Given the description of an element on the screen output the (x, y) to click on. 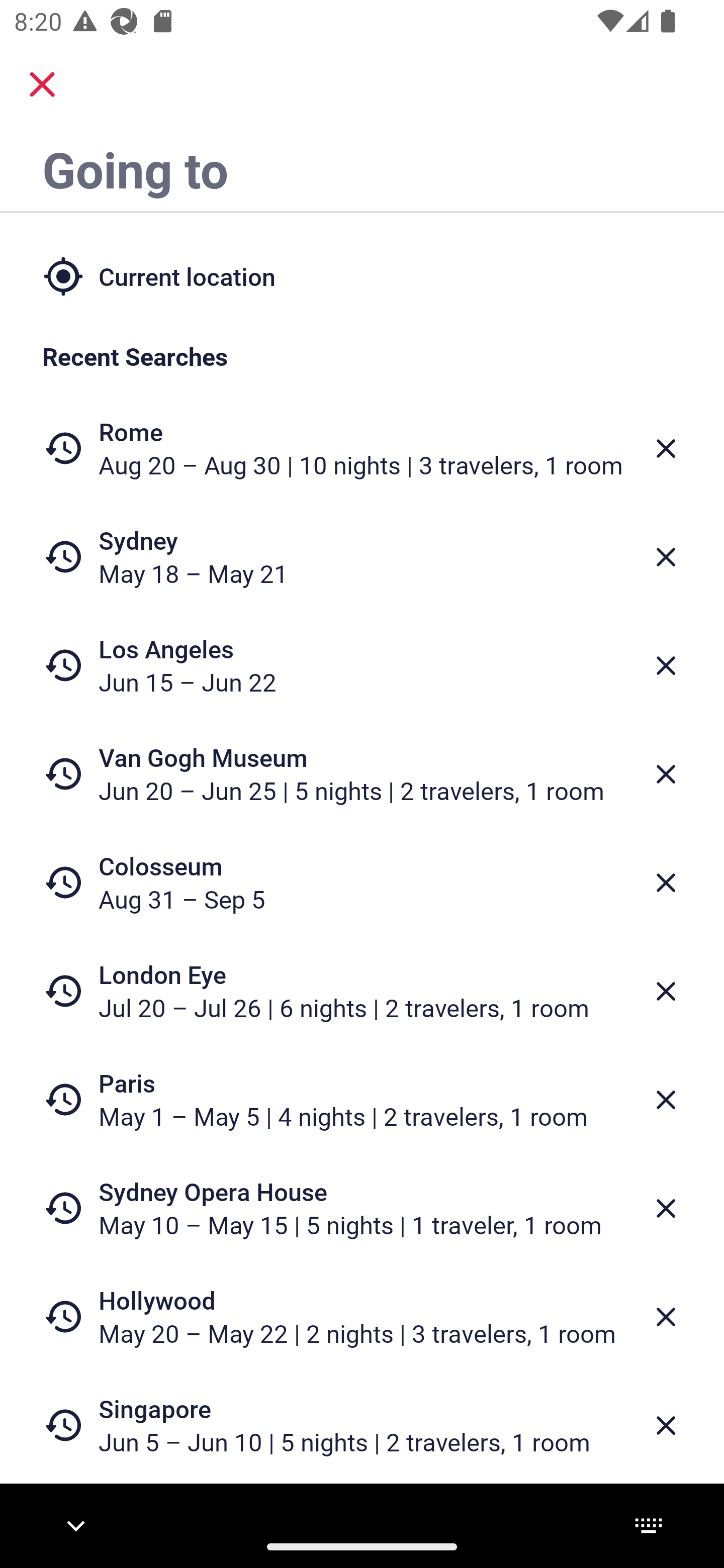
close. (42, 84)
Current location (362, 275)
Delete from recent searches (666, 448)
Sydney May 18 – May 21 (362, 557)
Delete from recent searches (666, 556)
Los Angeles Jun 15 – Jun 22 (362, 665)
Delete from recent searches (666, 666)
Delete from recent searches (666, 774)
Colosseum Aug 31 – Sep 5 (362, 881)
Delete from recent searches (666, 882)
Delete from recent searches (666, 990)
Delete from recent searches (666, 1100)
Delete from recent searches (666, 1208)
Delete from recent searches (666, 1316)
Delete from recent searches (666, 1424)
